Given the description of an element on the screen output the (x, y) to click on. 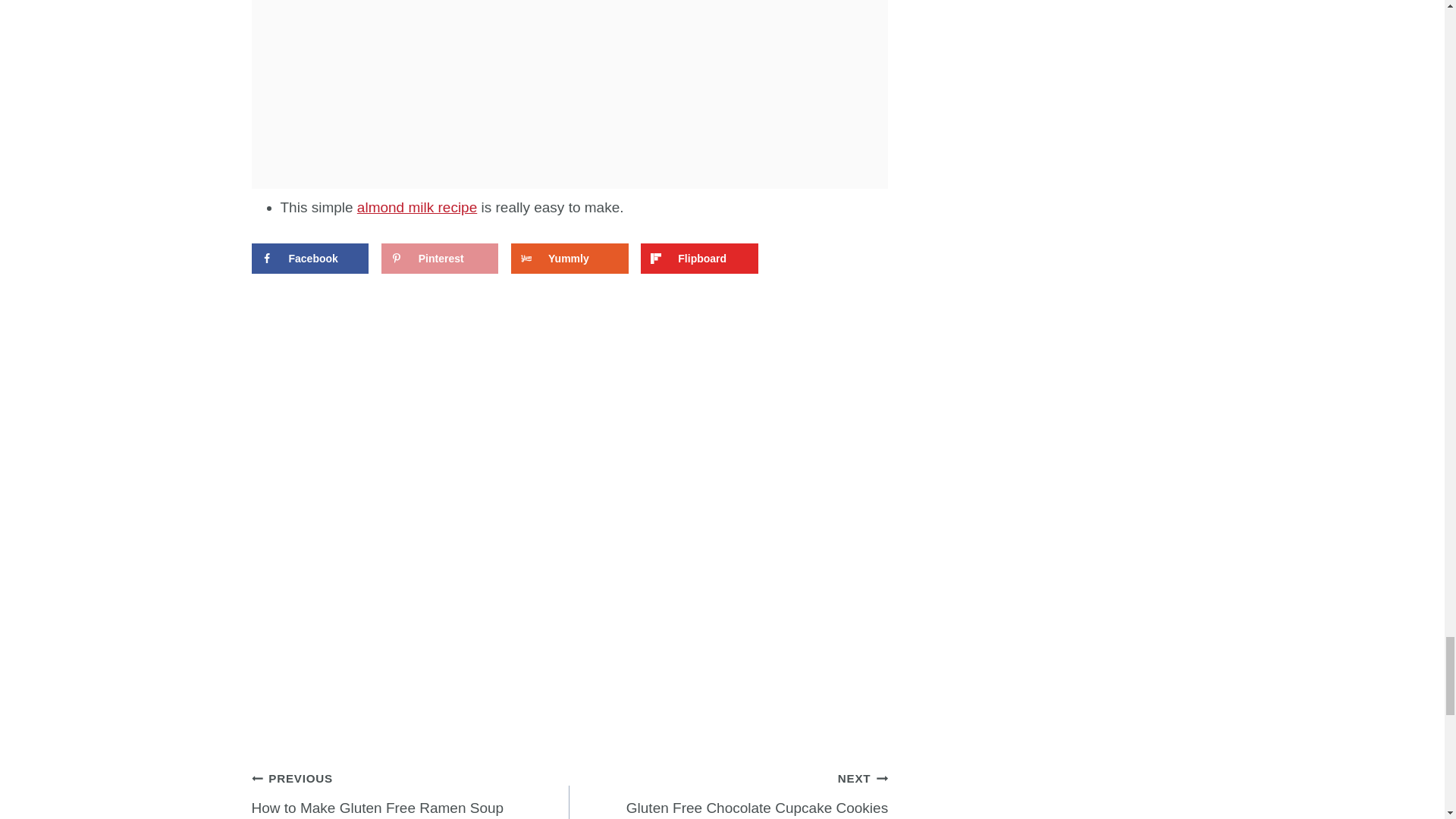
Share on Facebook (309, 258)
Yummly (569, 258)
Facebook (309, 258)
Pinterest (439, 258)
Share on Flipboard (698, 258)
Save to Pinterest (439, 258)
almond milk recipe (416, 207)
Share on Yummly (569, 258)
Flipboard (410, 792)
